Given the description of an element on the screen output the (x, y) to click on. 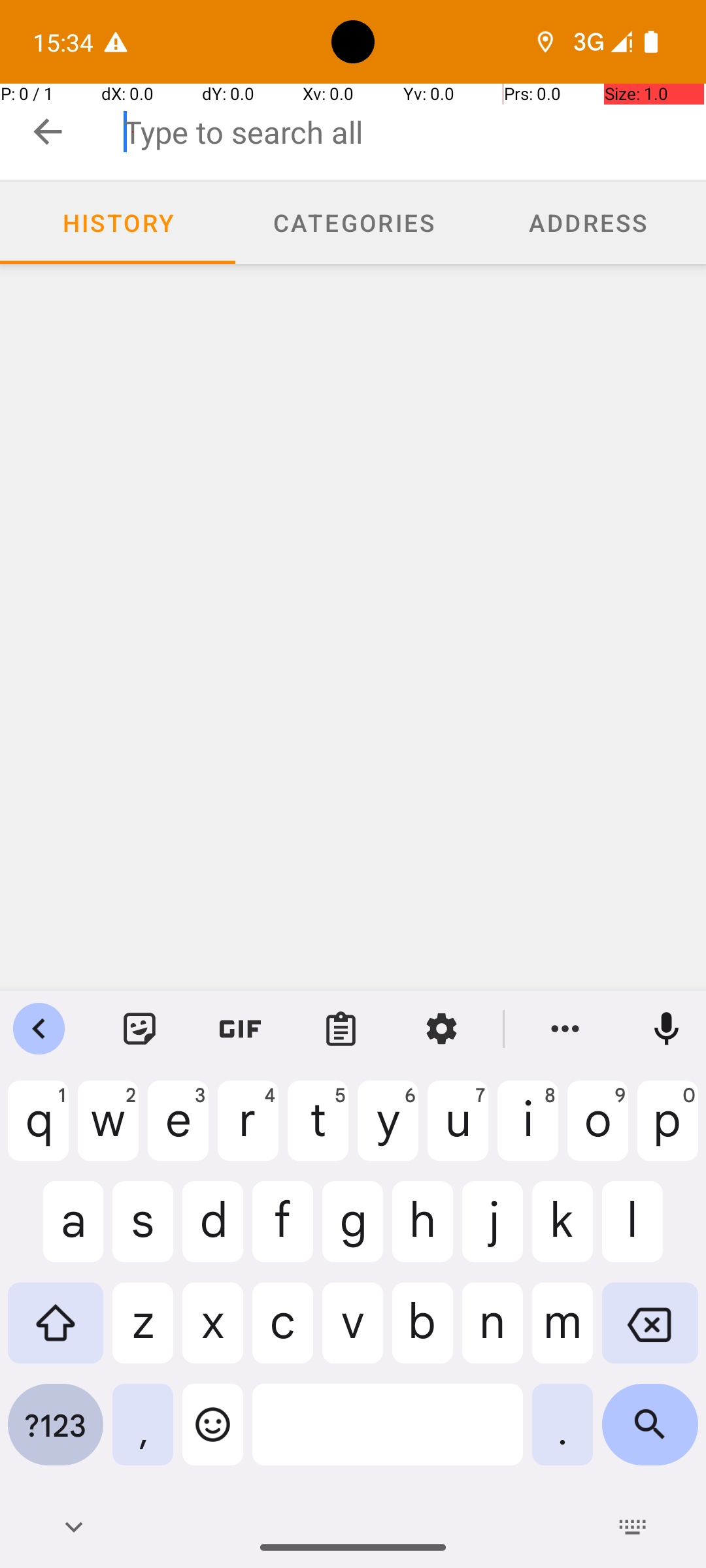
Type to search all Element type: android.widget.EditText (414, 131)
History Element type: android.widget.LinearLayout (117, 222)
Categories Element type: android.widget.LinearLayout (352, 222)
Address Element type: android.widget.LinearLayout (588, 222)
HISTORY Element type: android.widget.TextView (117, 222)
CATEGORIES Element type: android.widget.TextView (352, 222)
ADDRESS Element type: android.widget.TextView (587, 222)
